Given the description of an element on the screen output the (x, y) to click on. 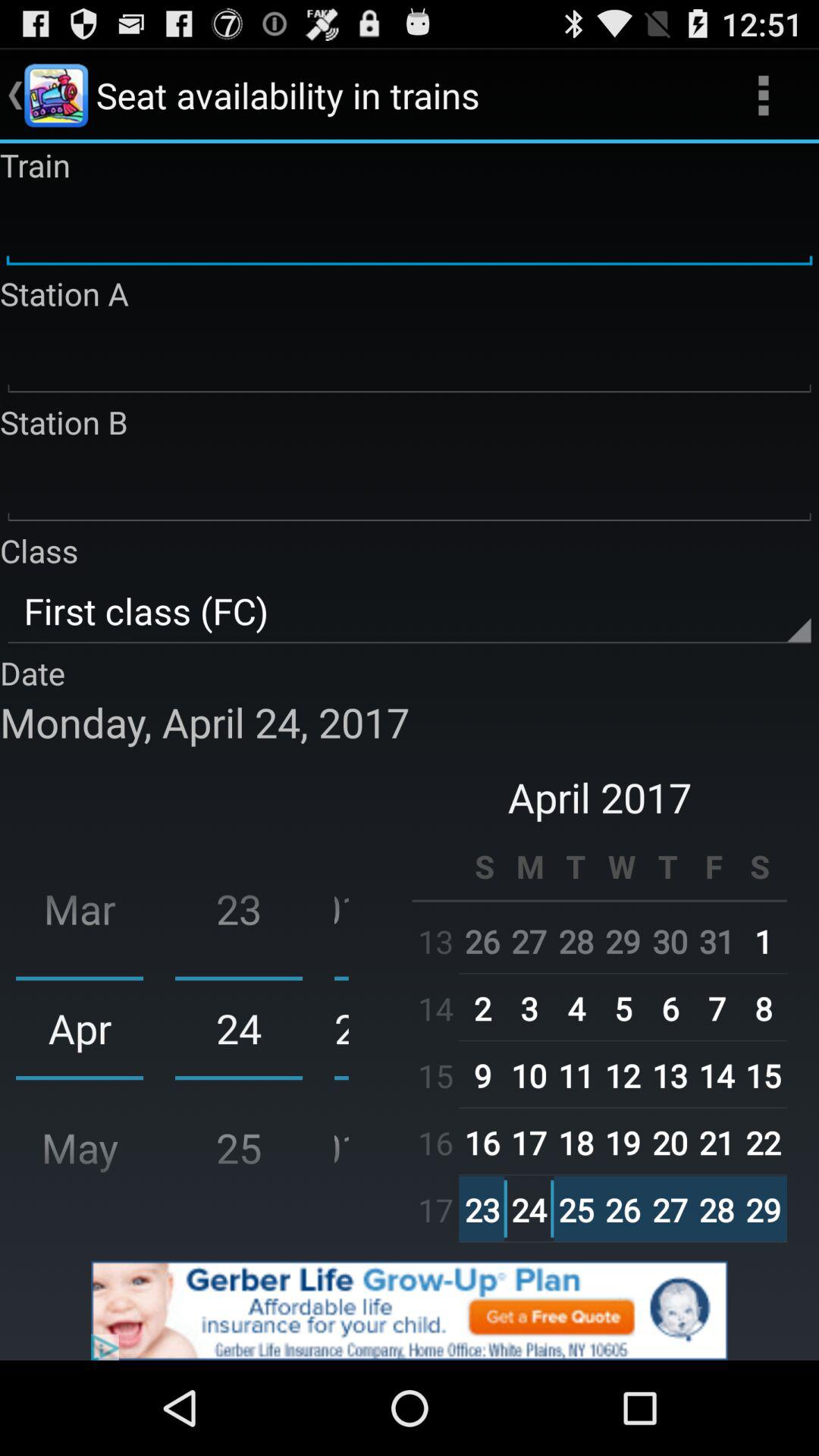
select more options which is on the top right corner of page (763, 95)
click on the image to the left of the text seat availability in trains (55, 95)
